Given the description of an element on the screen output the (x, y) to click on. 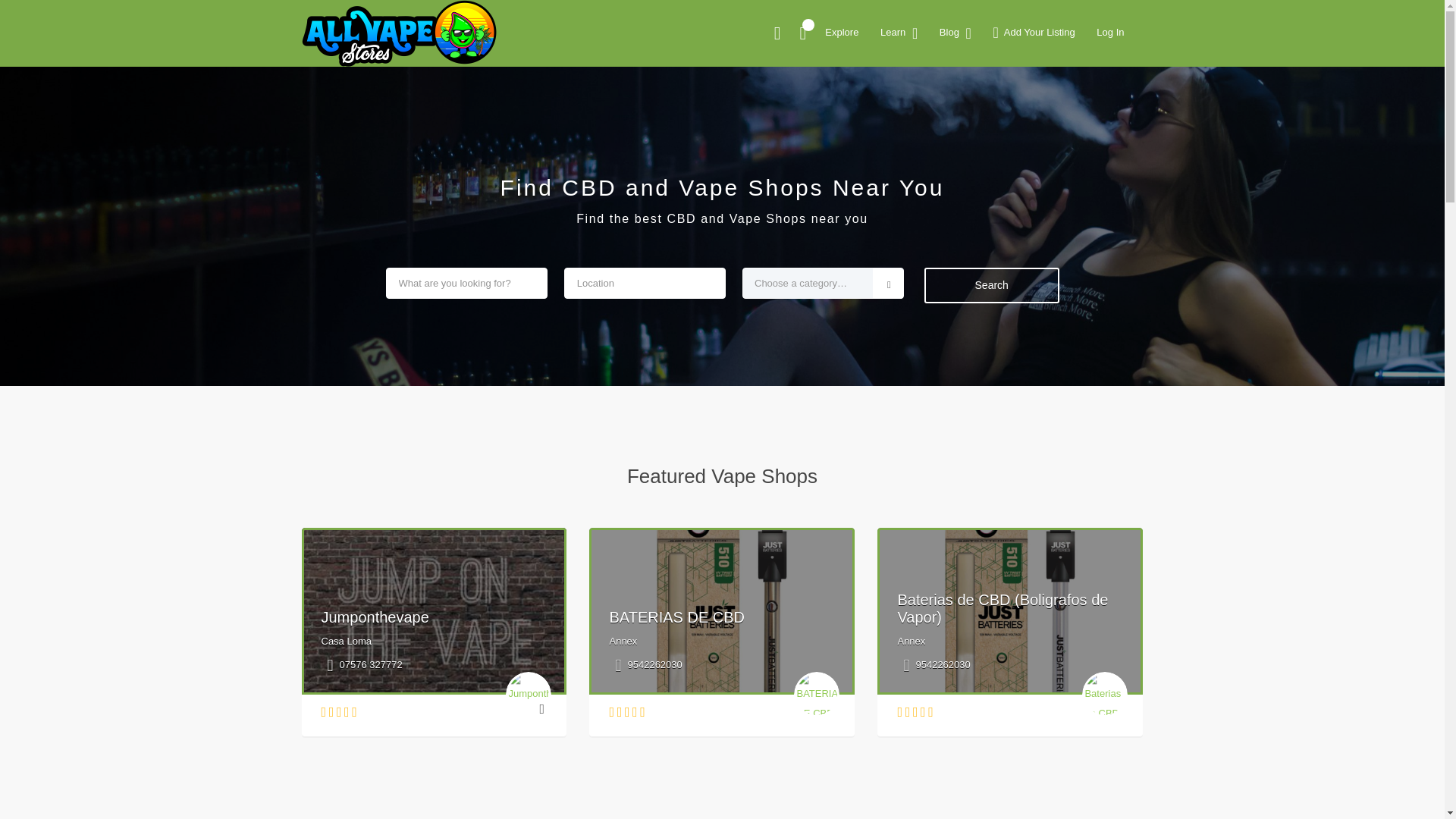
June 2020 (990, 432)
Search for: (1049, 47)
Search (1050, 85)
DMCA Policy (996, 282)
Latest Article (996, 172)
Search (1050, 85)
Skip to content (34, 9)
LUCYG-MAKEUP.CO.UK (414, 28)
Log in (980, 588)
Disclaimer (990, 354)
Instagram (737, 181)
RSS (977, 612)
Privacy Policy (999, 306)
Terms of Use (996, 330)
Contact Us (991, 258)
